Given the description of an element on the screen output the (x, y) to click on. 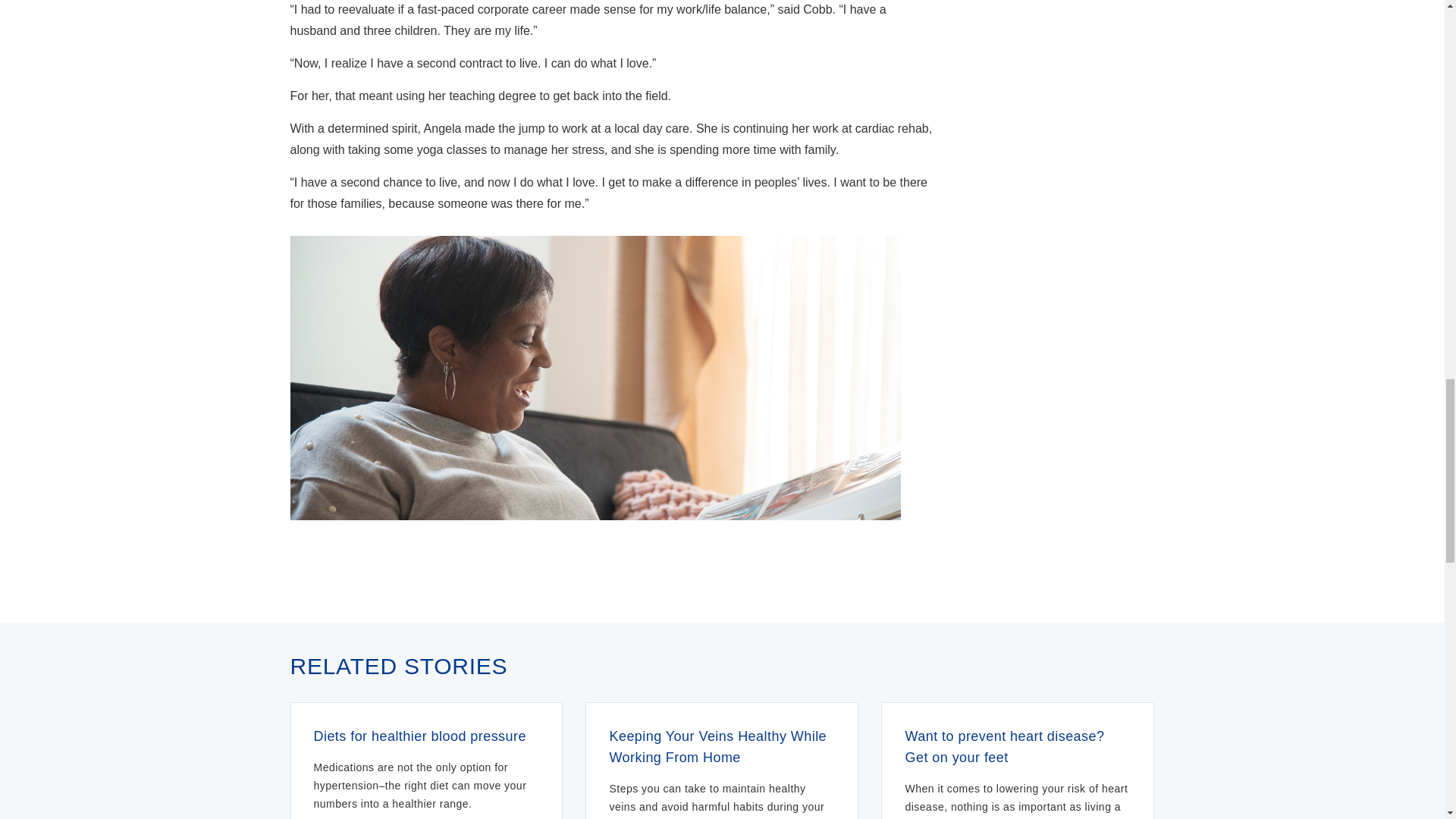
Keeping Your Veins Healthy While Working From Home (721, 746)
Diets for healthier blood pressure (427, 735)
Want to prevent heart disease? Get on your feet (1017, 746)
